Given the description of an element on the screen output the (x, y) to click on. 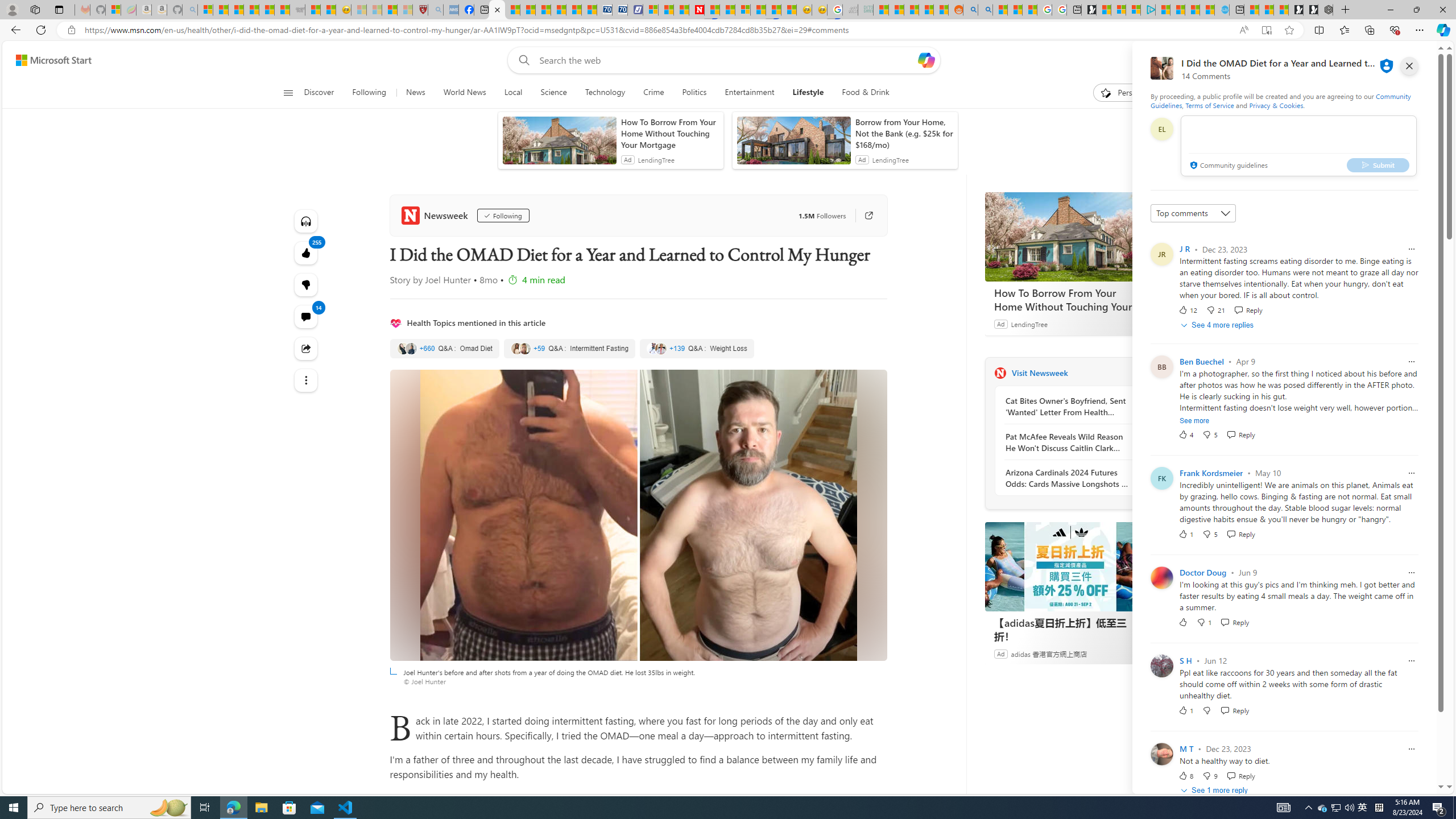
12 Popular Science Lies that Must be Corrected - Sleeping (405, 9)
Community Guidelines (1280, 100)
Sort comments by (1193, 212)
